Given the description of an element on the screen output the (x, y) to click on. 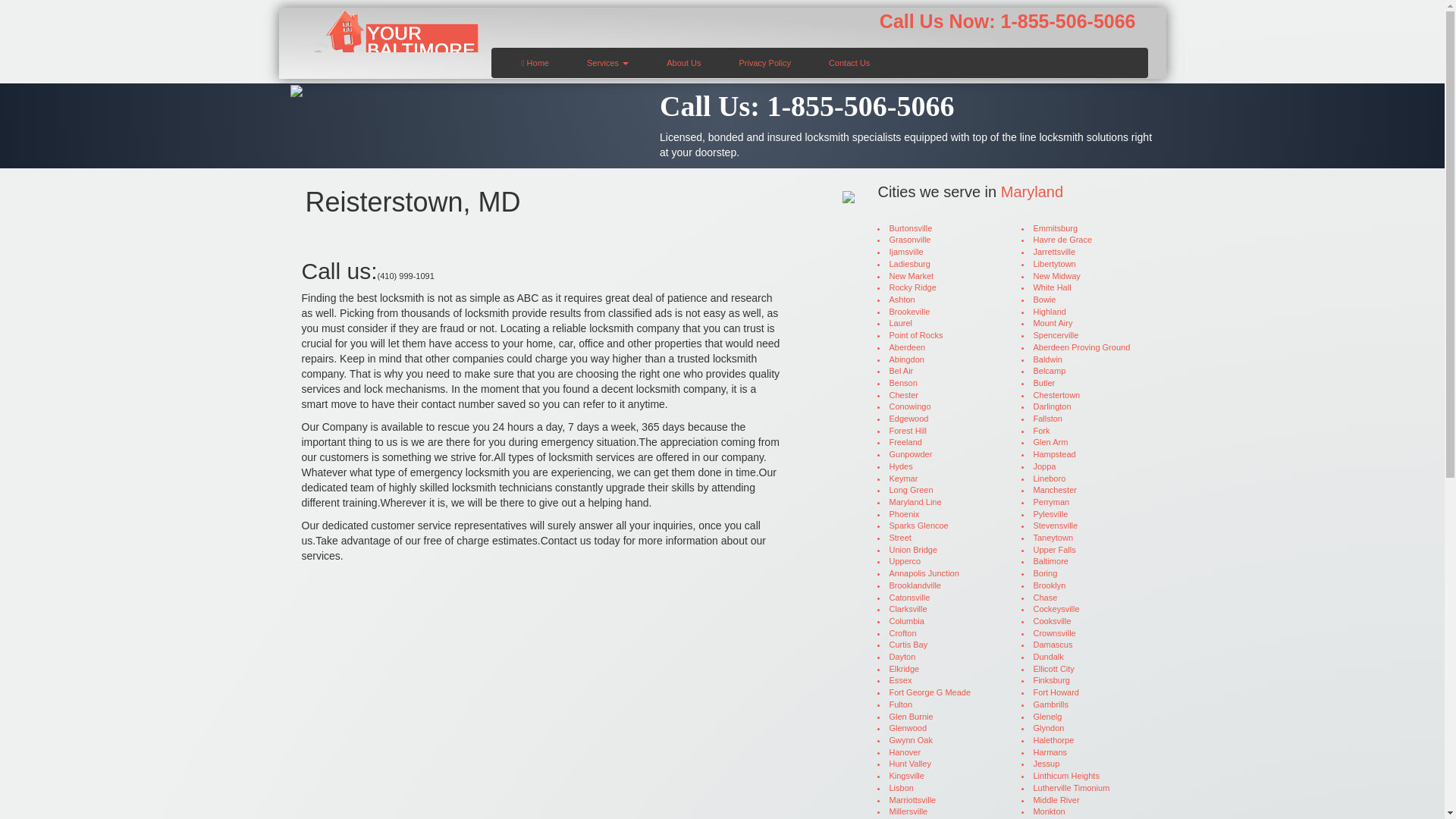
Highland (1082, 312)
Abingdon (937, 358)
Baldwin (1082, 358)
Point of Rocks (937, 336)
Ladiesburg (937, 264)
Burtonsville (937, 228)
Aberdeen Proving Ground (1082, 347)
Havre de Grace (1082, 240)
Privacy Policy (764, 61)
Rocky Ridge (937, 287)
Bel Air (937, 371)
Spencerville (1082, 336)
Contact Us (848, 61)
Home (534, 61)
Grasonville (937, 240)
